Given the description of an element on the screen output the (x, y) to click on. 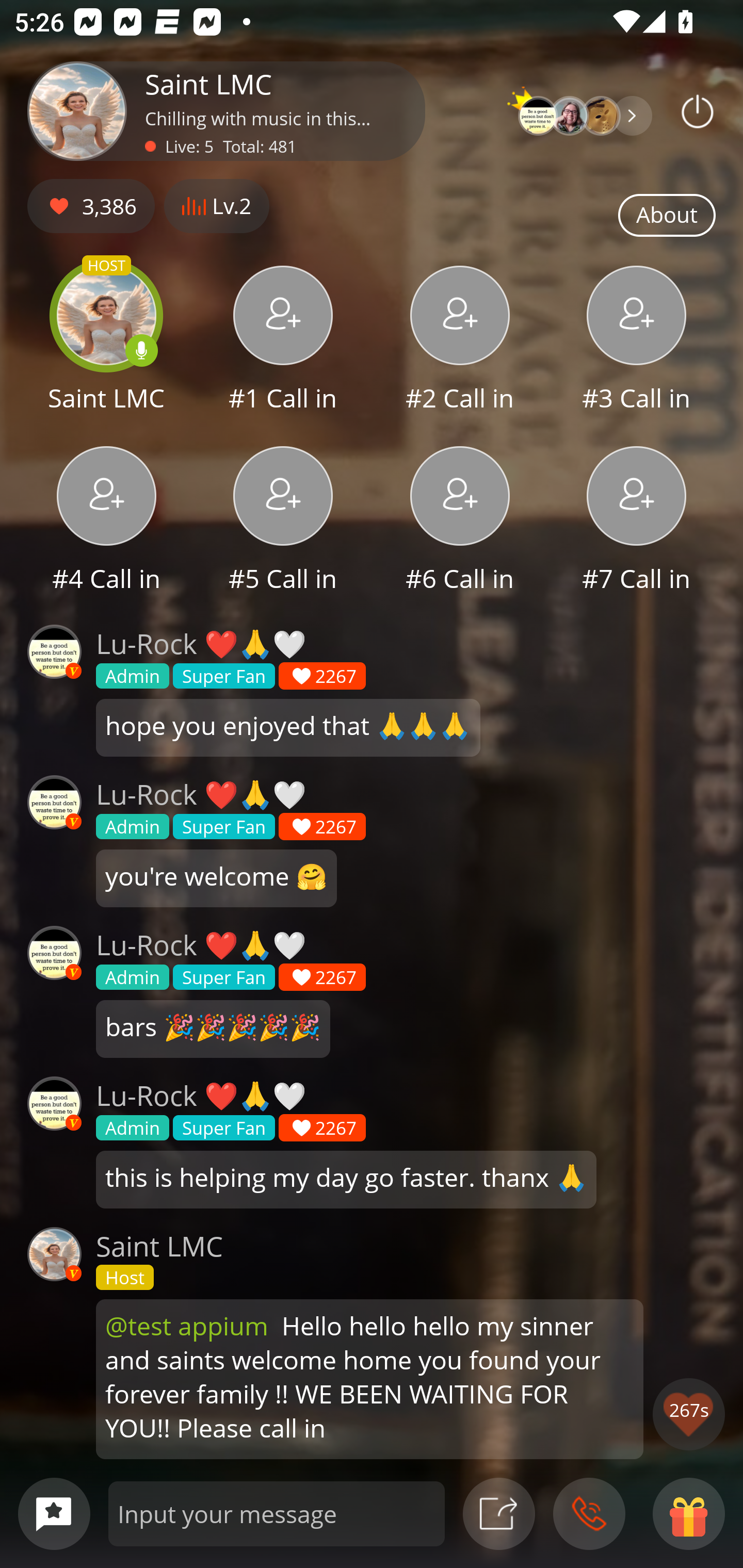
Podbean (697, 111)
About (666, 215)
HOST Saint LMC (105, 340)
#1 Call in (282, 340)
#2 Call in (459, 340)
#3 Call in (636, 340)
#4 Call in (105, 521)
#5 Call in (282, 521)
#6 Call in (459, 521)
#7 Call in (636, 521)
Input your message (276, 1513)
